Given the description of an element on the screen output the (x, y) to click on. 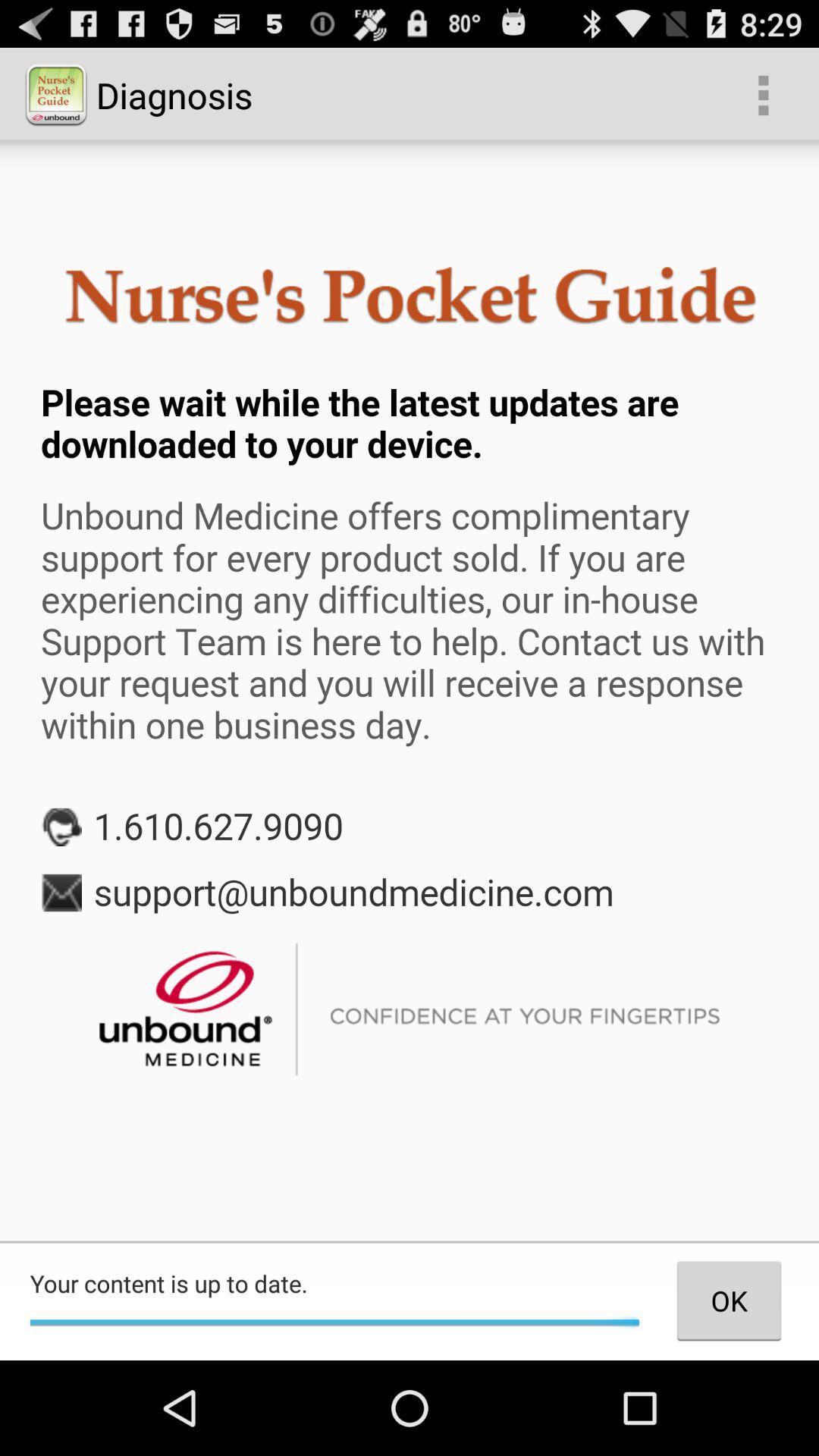
advertisement page (409, 692)
